Given the description of an element on the screen output the (x, y) to click on. 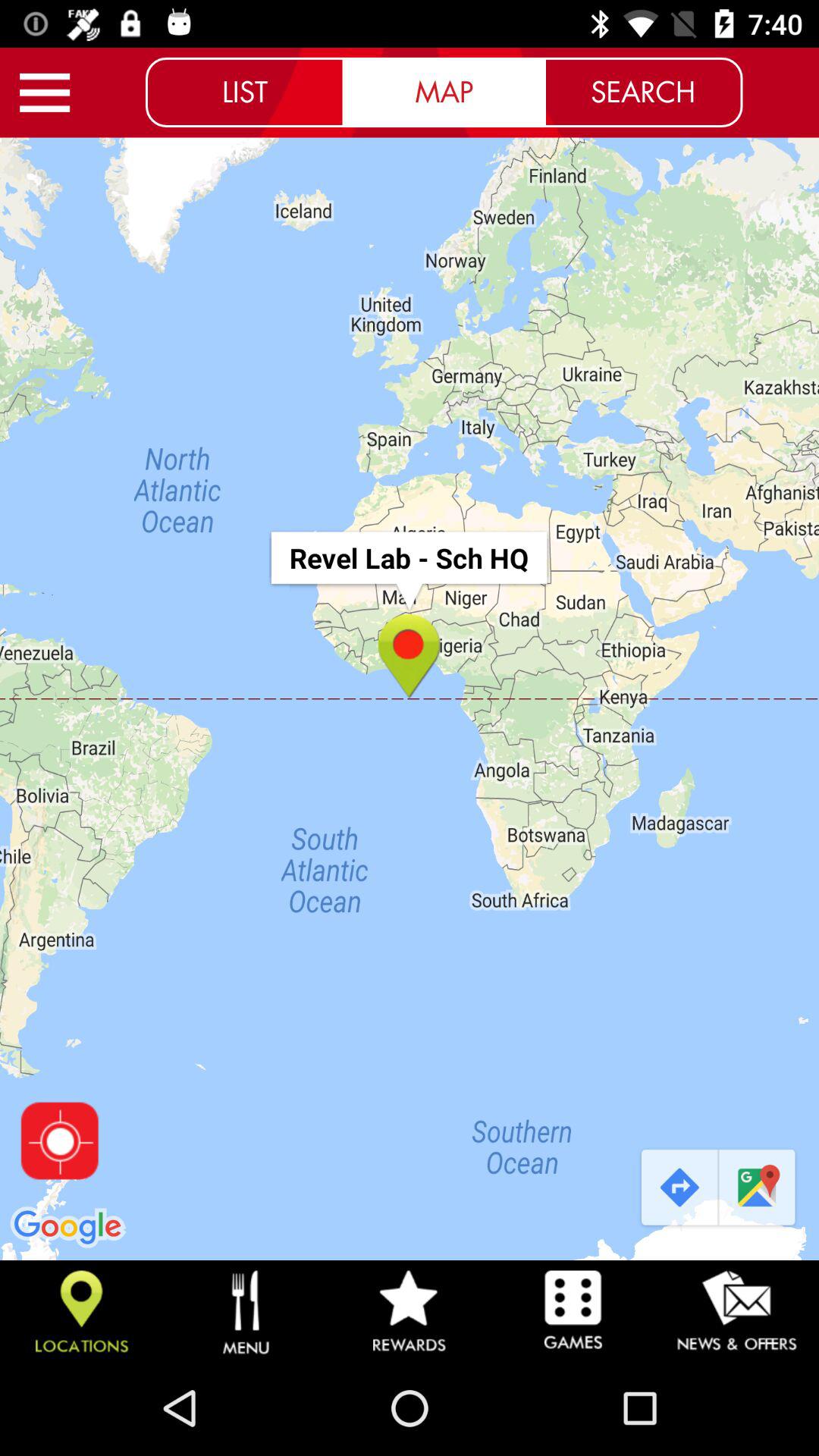
choose the list icon (244, 92)
